Given the description of an element on the screen output the (x, y) to click on. 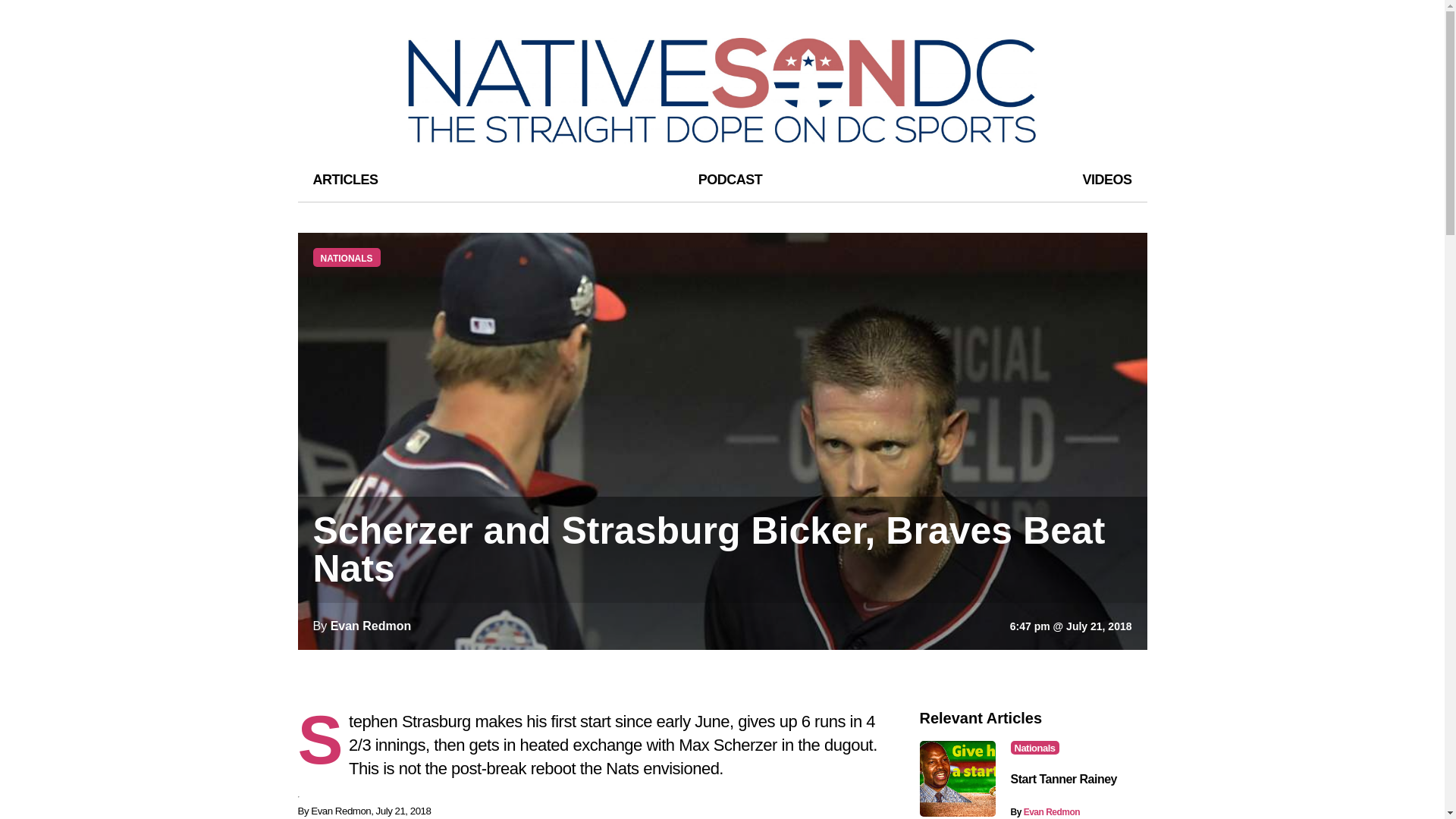
Nationals (1034, 747)
By Evan Redmon (1045, 811)
ARTICLES (345, 179)
PODCAST (730, 179)
Start Tanner Rainey (1063, 779)
VIDEOS (1106, 179)
By Evan Redmon (361, 626)
